Given the description of an element on the screen output the (x, y) to click on. 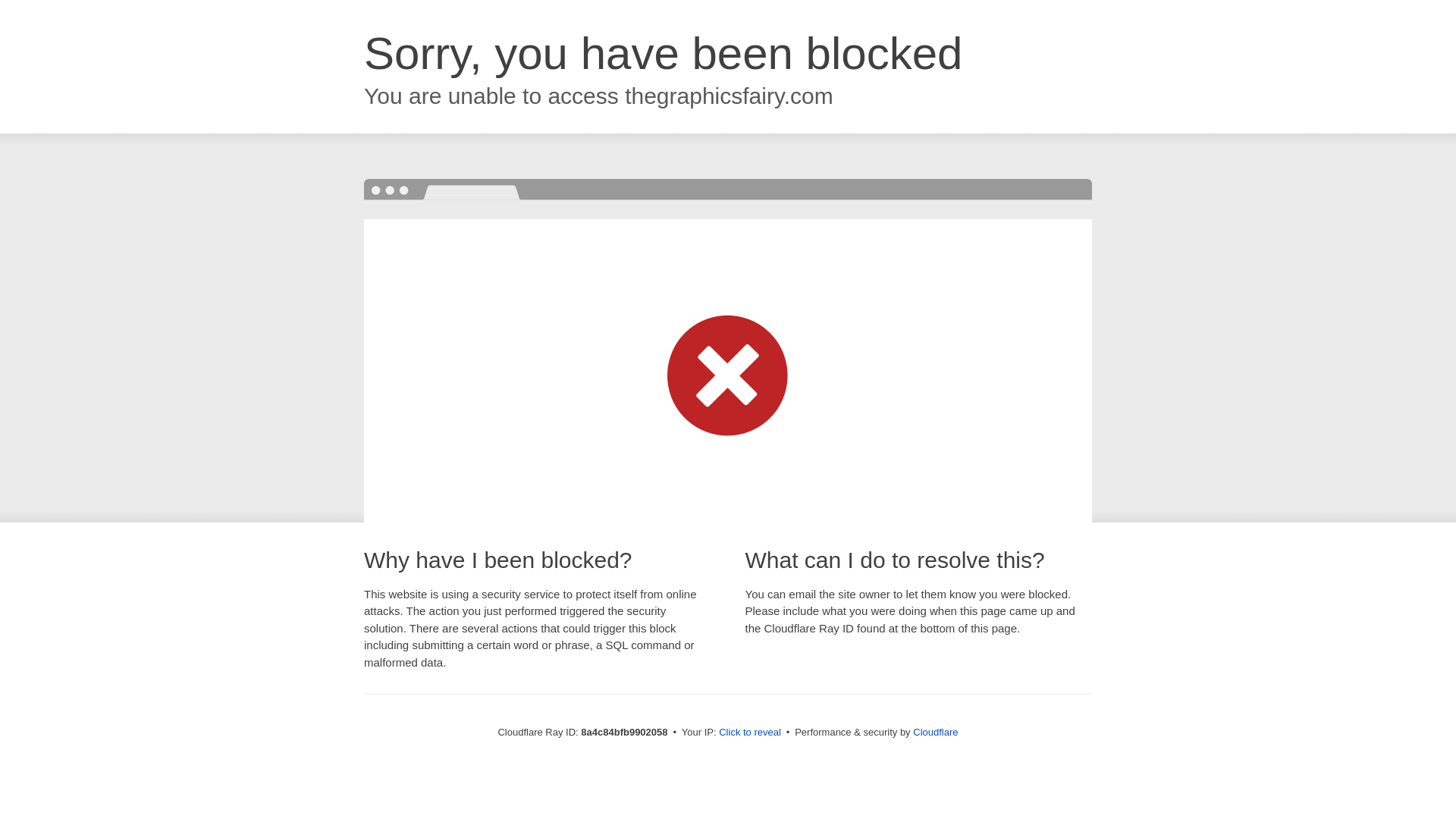
Click to reveal (749, 732)
Cloudflare (935, 731)
